Given the description of an element on the screen output the (x, y) to click on. 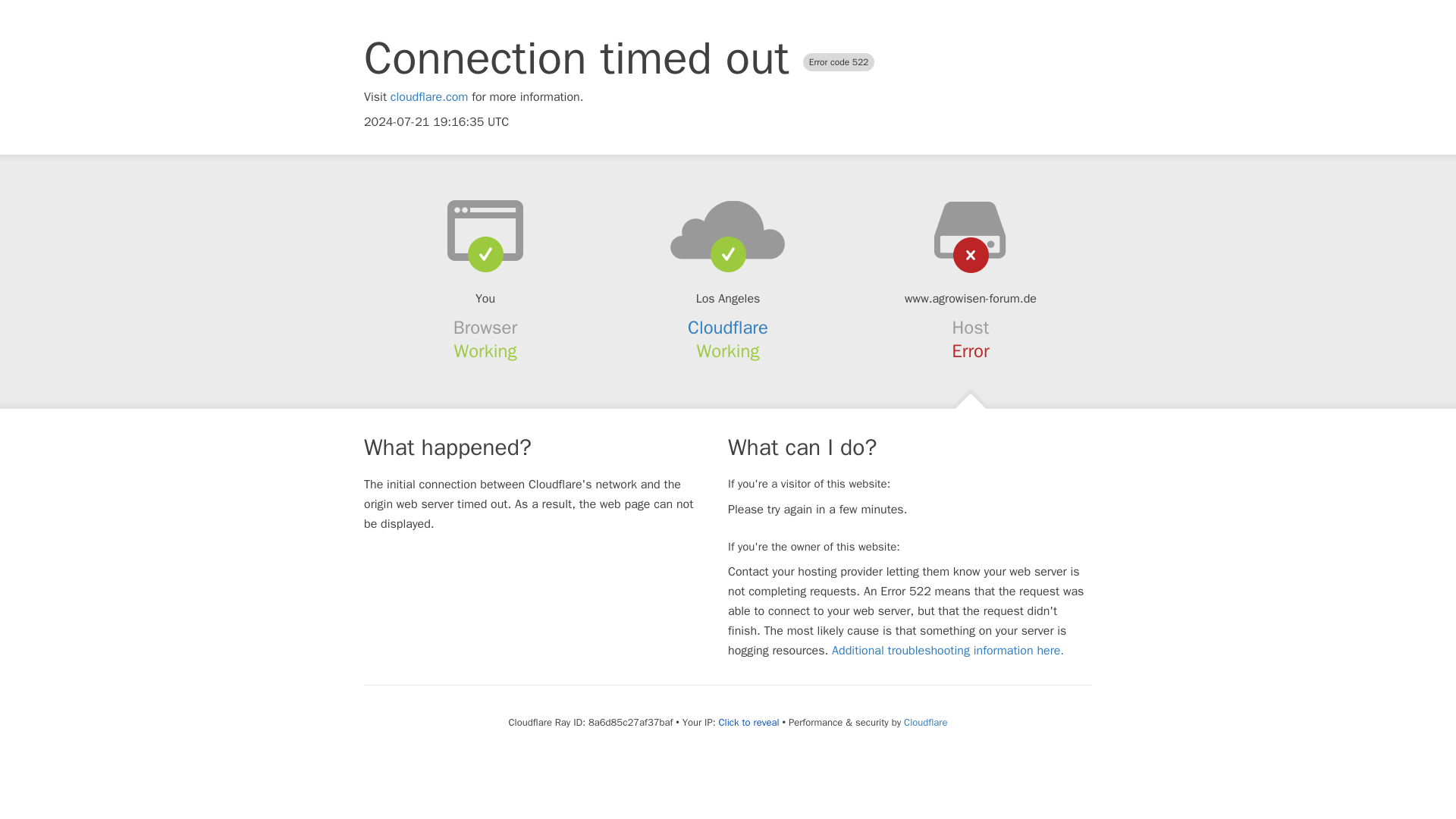
Click to reveal (748, 722)
cloudflare.com (429, 96)
Cloudflare (925, 721)
Cloudflare (727, 327)
Additional troubleshooting information here. (947, 650)
